Given the description of an element on the screen output the (x, y) to click on. 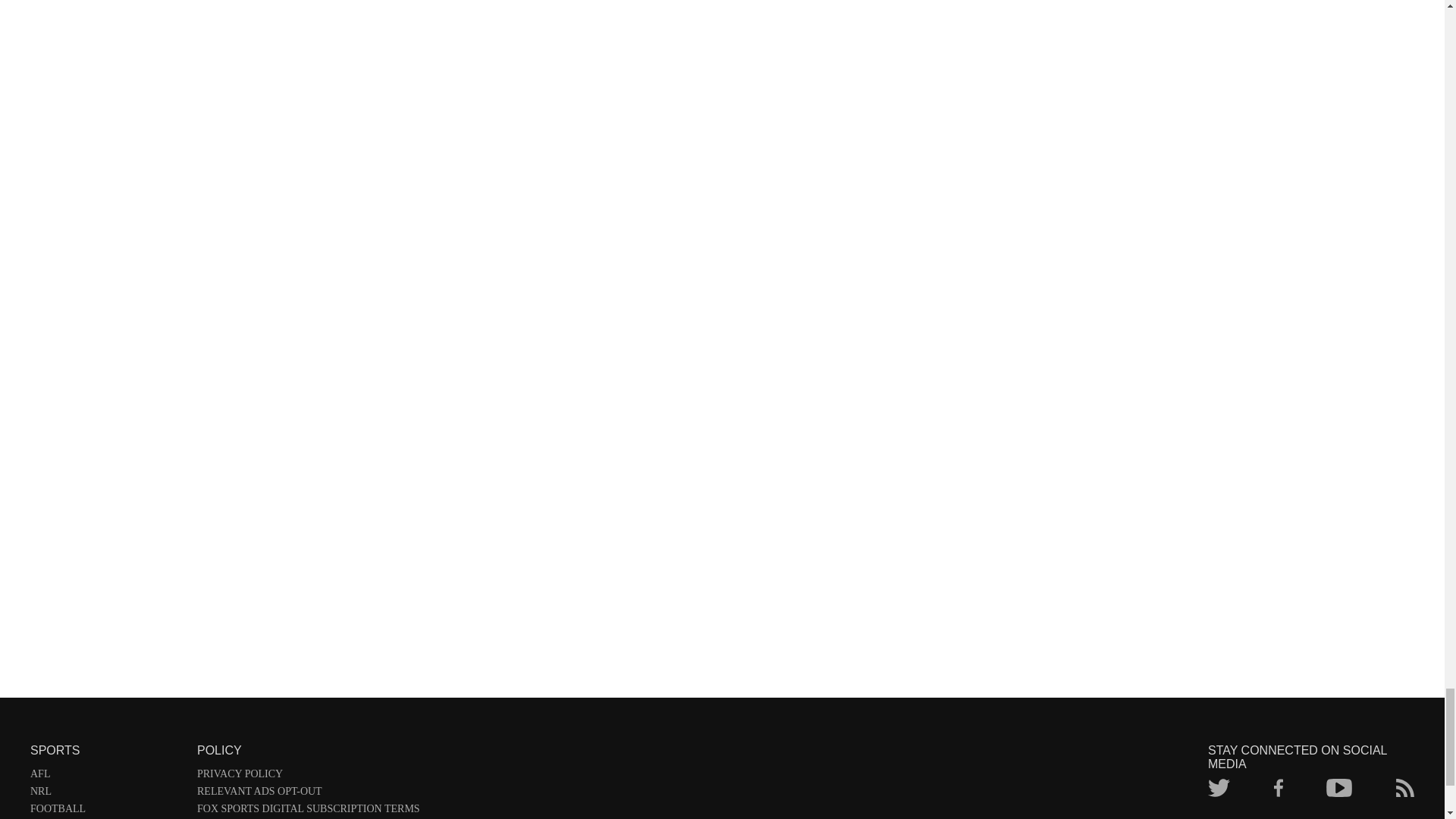
FOOTBALL (106, 811)
NRL (106, 794)
AFL (106, 776)
PRIVACY POLICY (308, 776)
FOX SPORTS DIGITAL SUBSCRIPTION TERMS (308, 811)
RELEVANT ADS OPT-OUT (308, 794)
